Given the description of an element on the screen output the (x, y) to click on. 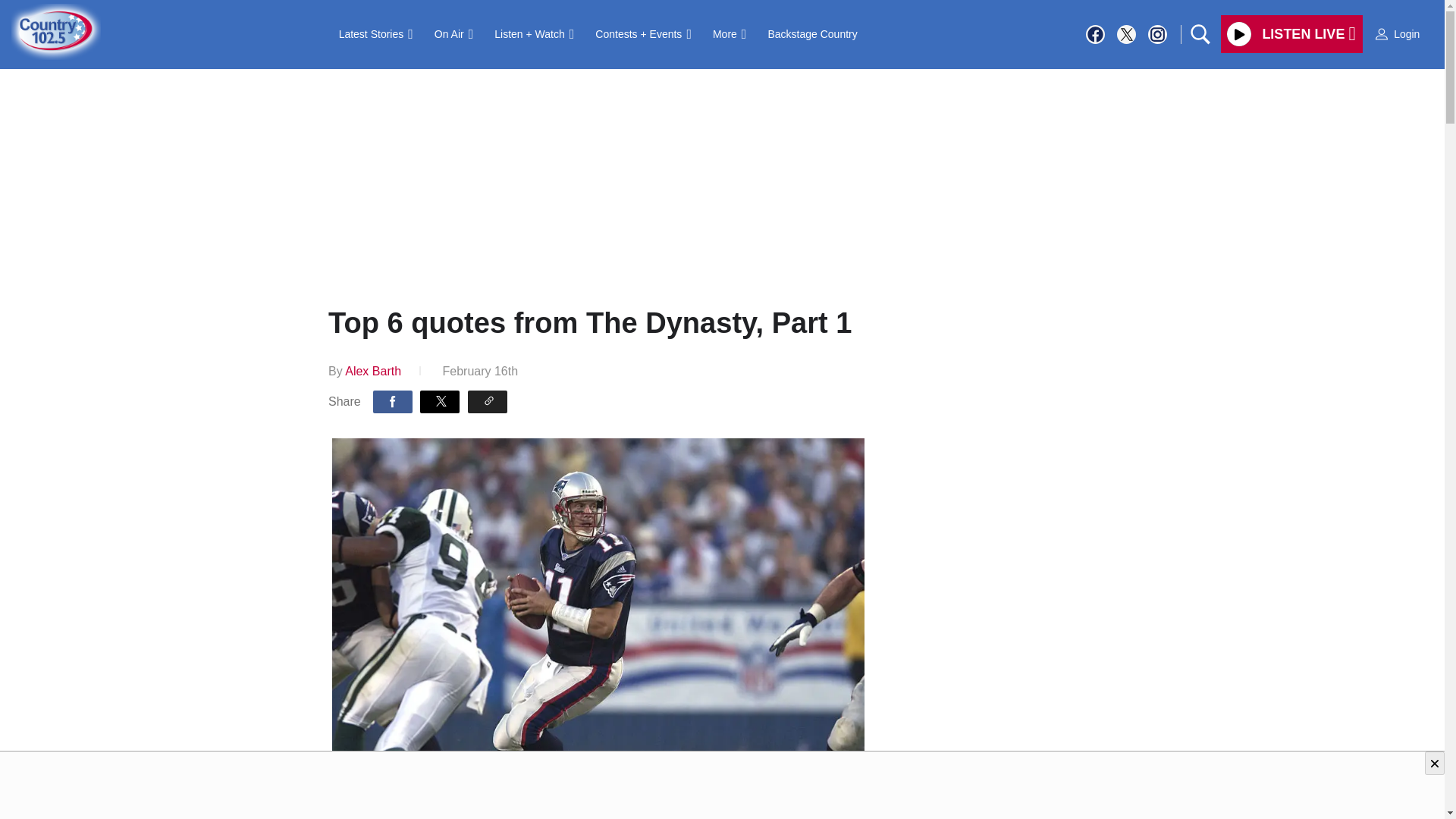
More (729, 33)
Alex Barth (373, 370)
Close AdCheckmark indicating ad close (1434, 763)
On Air (453, 33)
Latest Stories (376, 33)
